Given the description of an element on the screen output the (x, y) to click on. 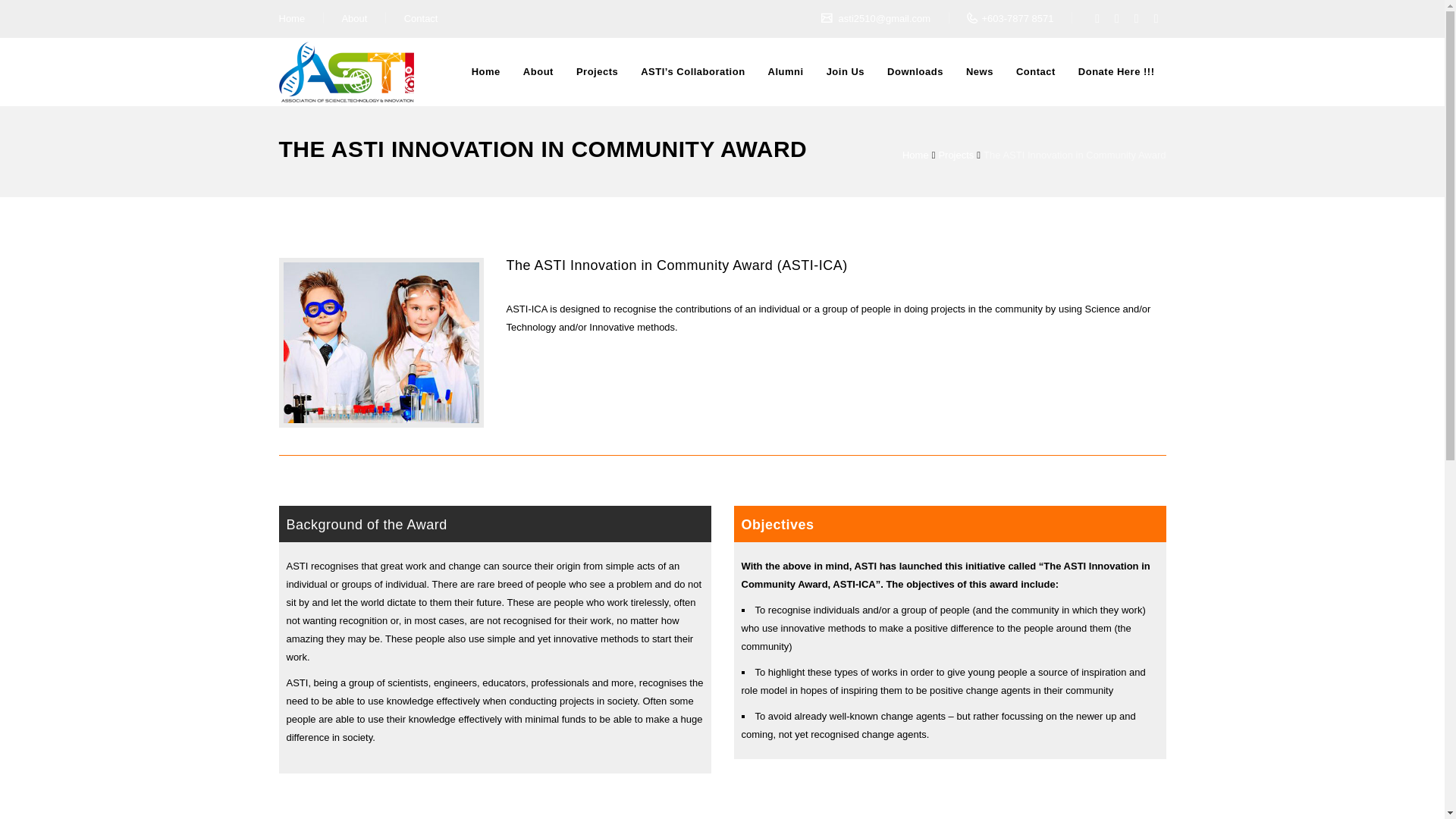
Contact (421, 18)
Home (292, 18)
tt-1 (381, 342)
About (353, 18)
